Given the description of an element on the screen output the (x, y) to click on. 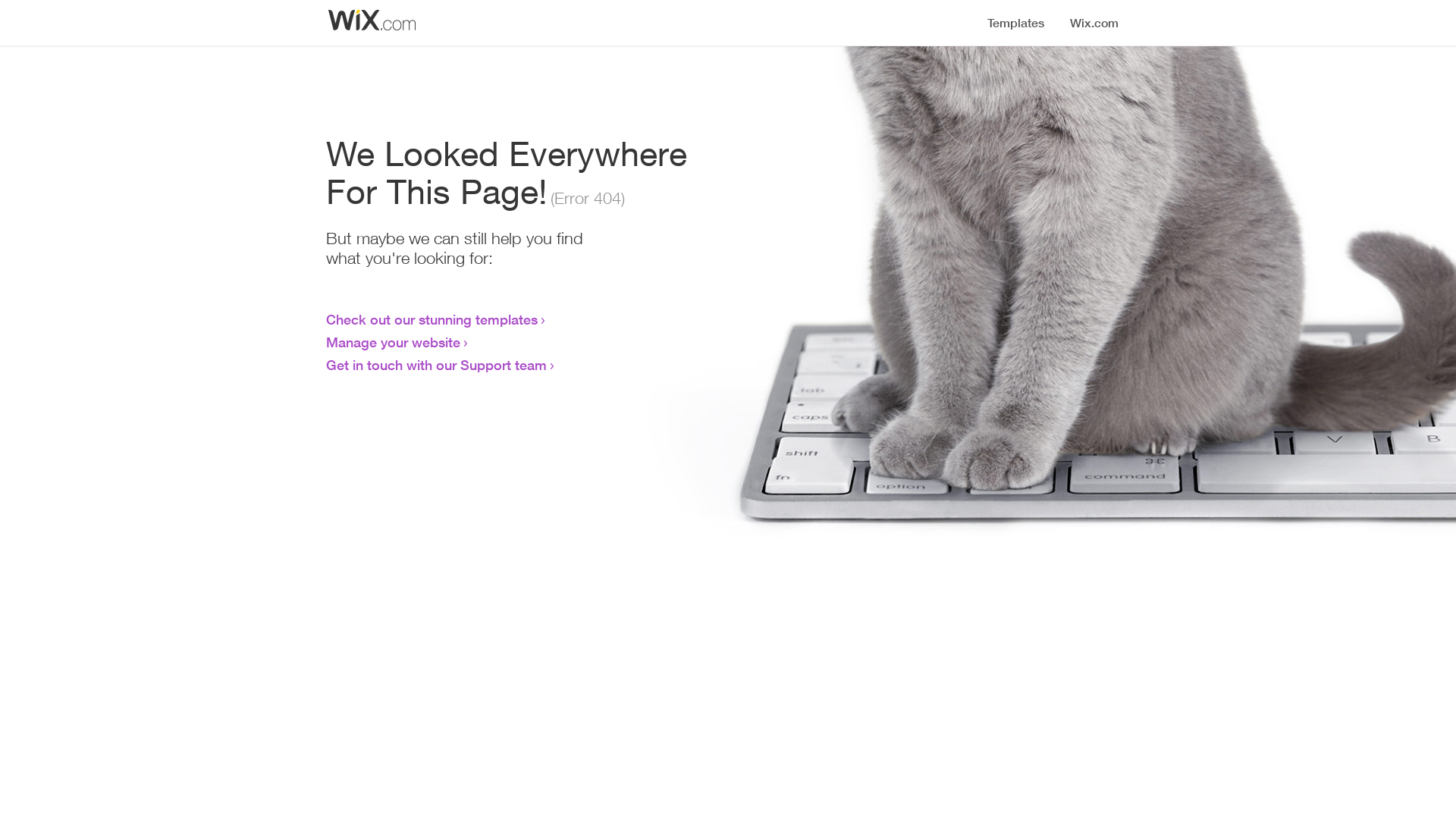
Check out our stunning templates Element type: text (431, 318)
Manage your website Element type: text (393, 341)
Get in touch with our Support team Element type: text (436, 364)
